Given the description of an element on the screen output the (x, y) to click on. 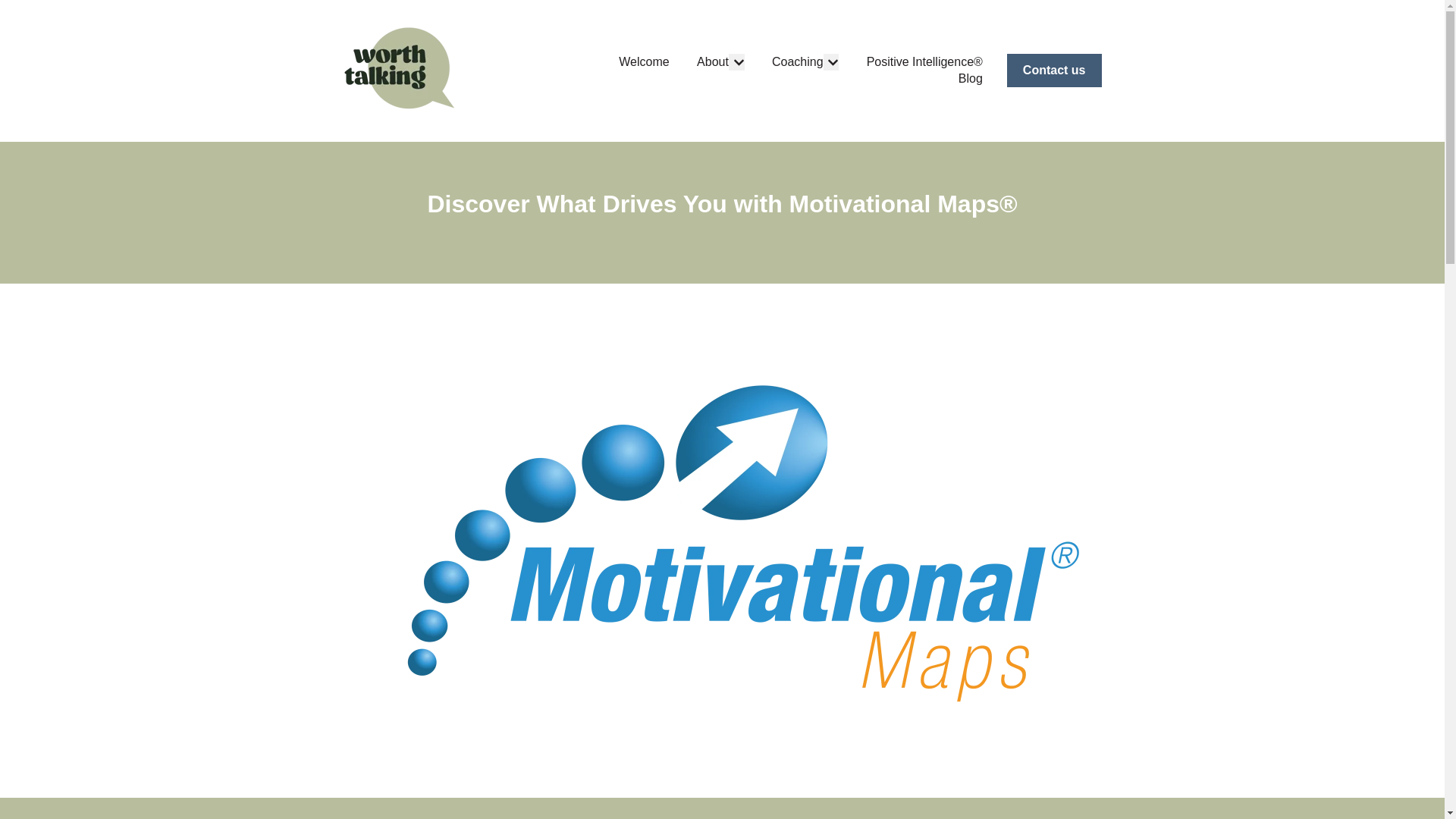
Welcome (643, 62)
Coaching (797, 62)
Contact us (1054, 70)
Blog (970, 78)
About (713, 62)
